Given the description of an element on the screen output the (x, y) to click on. 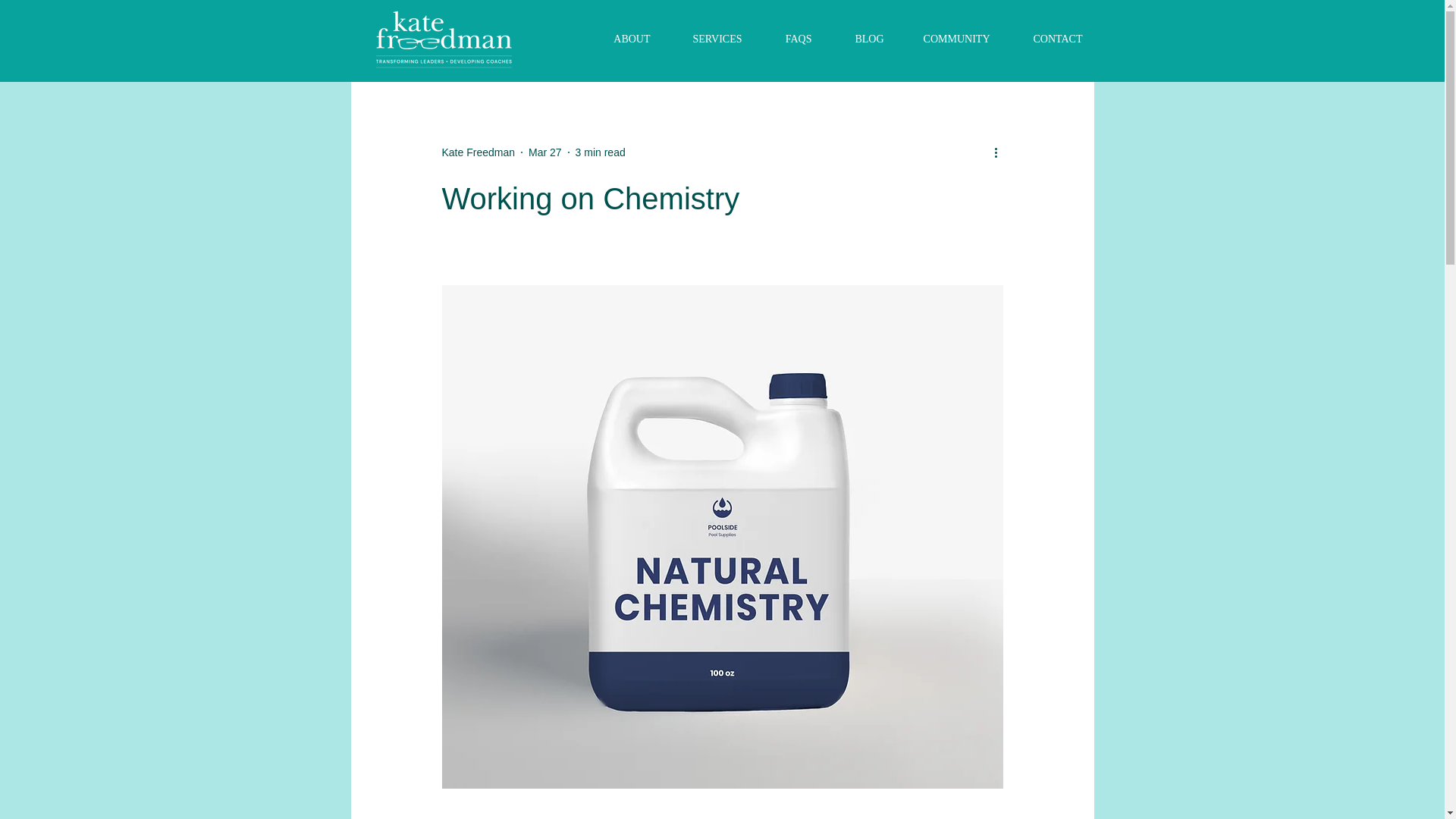
3 min read (600, 151)
Mar 27 (545, 151)
Kate Freedman Coaching logo (443, 39)
Kate Freedman (478, 151)
Kate Freedman (478, 151)
ABOUT (622, 39)
FAQS (789, 39)
COMMUNITY (948, 39)
CONTACT (1047, 39)
BLOG (859, 39)
SERVICES (706, 39)
